Given the description of an element on the screen output the (x, y) to click on. 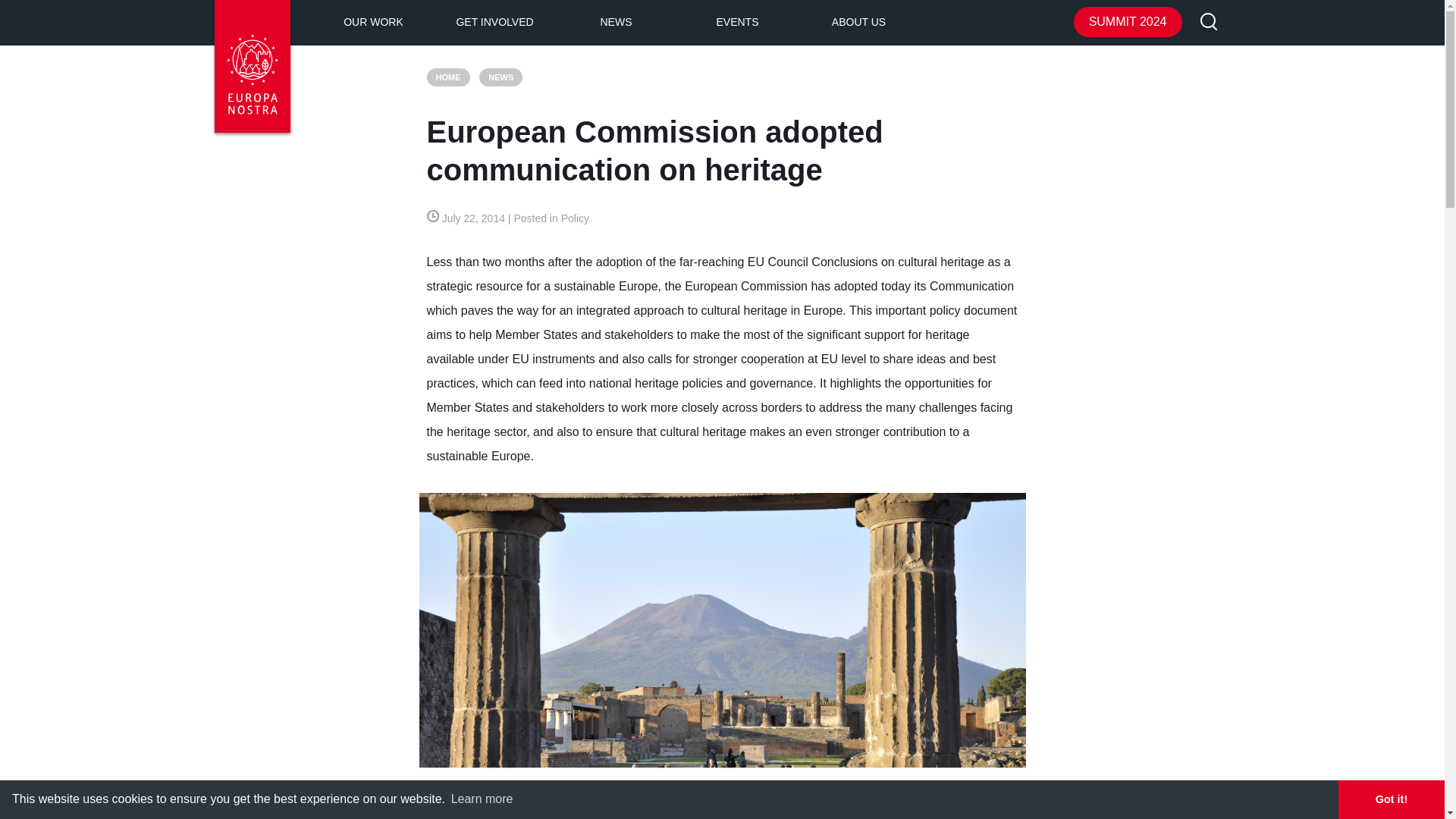
OUR WORK (373, 22)
Home (447, 76)
Learn more (481, 798)
ABOUT US (857, 22)
seach (1209, 22)
EVENTS (737, 22)
Posts (500, 76)
NEWS (615, 22)
GET INVOLVED (493, 22)
